Given the description of an element on the screen output the (x, y) to click on. 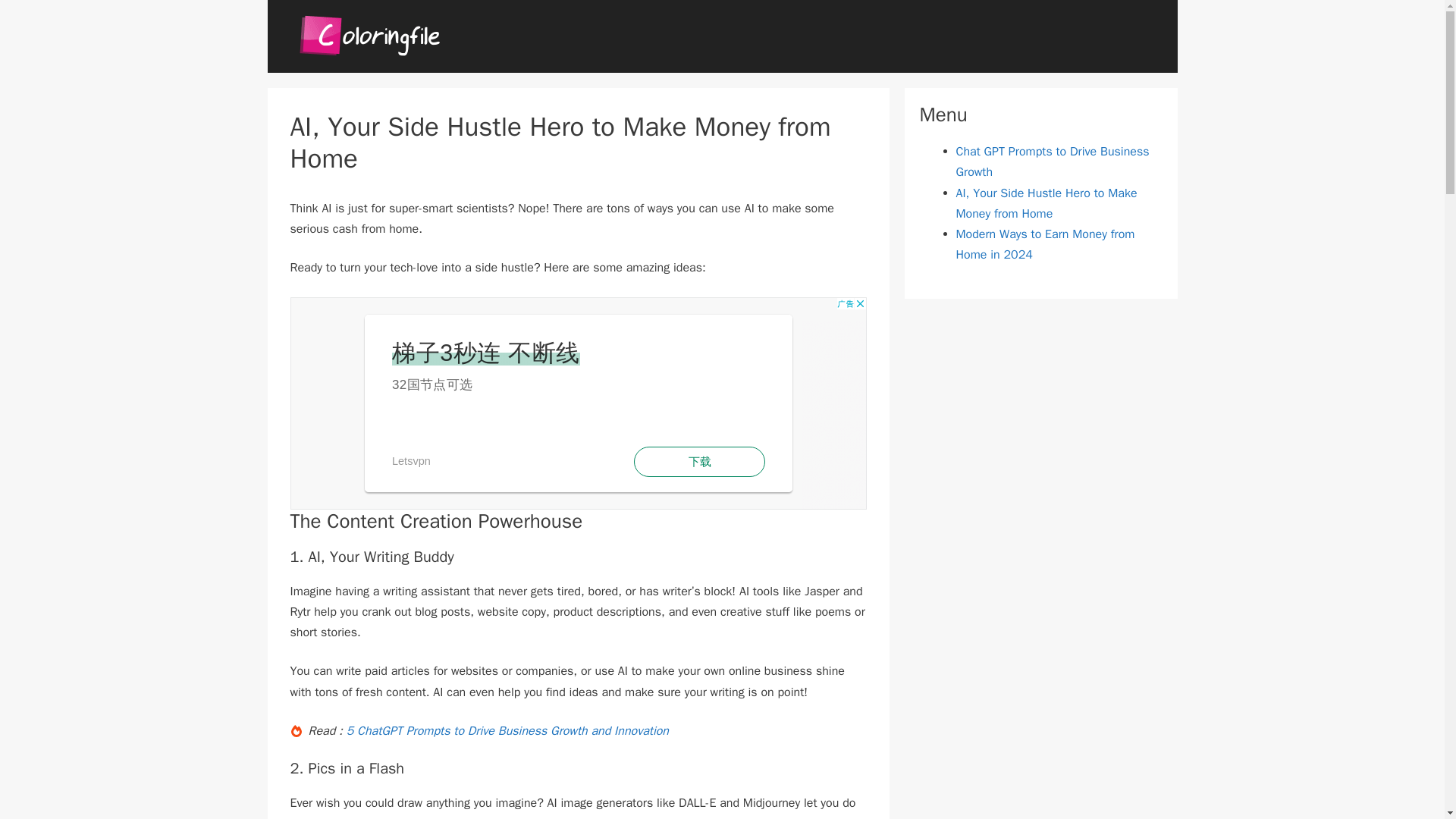
Chat GPT Prompts to Drive Business Growth (1051, 161)
Modern Ways to Earn Money from Home in 2024 (1044, 244)
Advertisement (577, 403)
AI, Your Side Hustle Hero to Make Money from Home (1046, 203)
5 ChatGPT Prompts to Drive Business Growth and Innovation (507, 730)
